Given the description of an element on the screen output the (x, y) to click on. 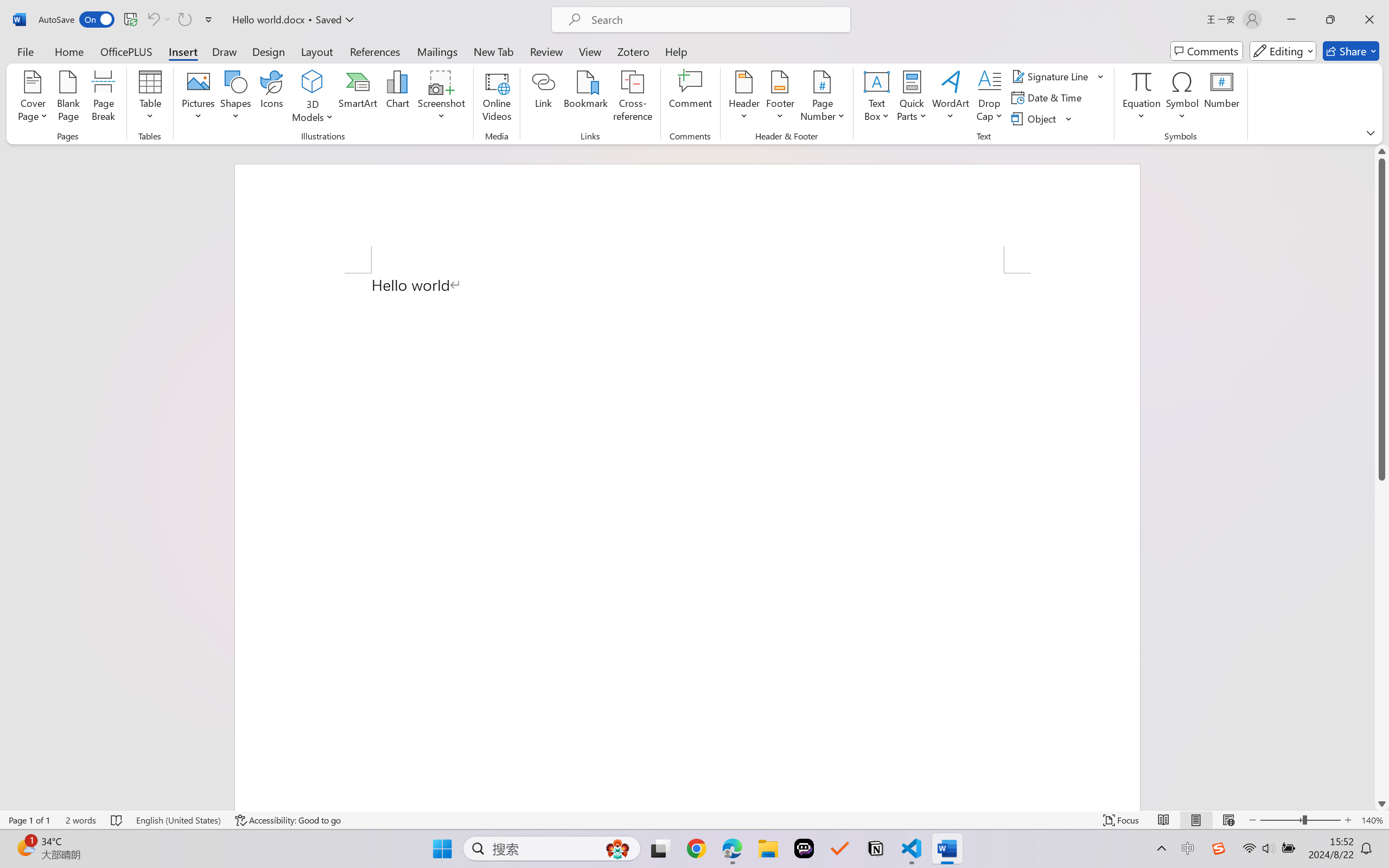
Signature Line (1051, 75)
Table (149, 97)
New Tab (493, 51)
Quick Parts (912, 97)
Ribbon Display Options (1370, 132)
Shapes (235, 97)
AutomationID: DynamicSearchBoxGleamImage (617, 848)
Save (130, 19)
Pictures (198, 97)
More Options (1141, 112)
Screenshot (441, 97)
Line up (1382, 150)
Comment (689, 97)
Customize Quick Access Toolbar (208, 19)
